Given the description of an element on the screen output the (x, y) to click on. 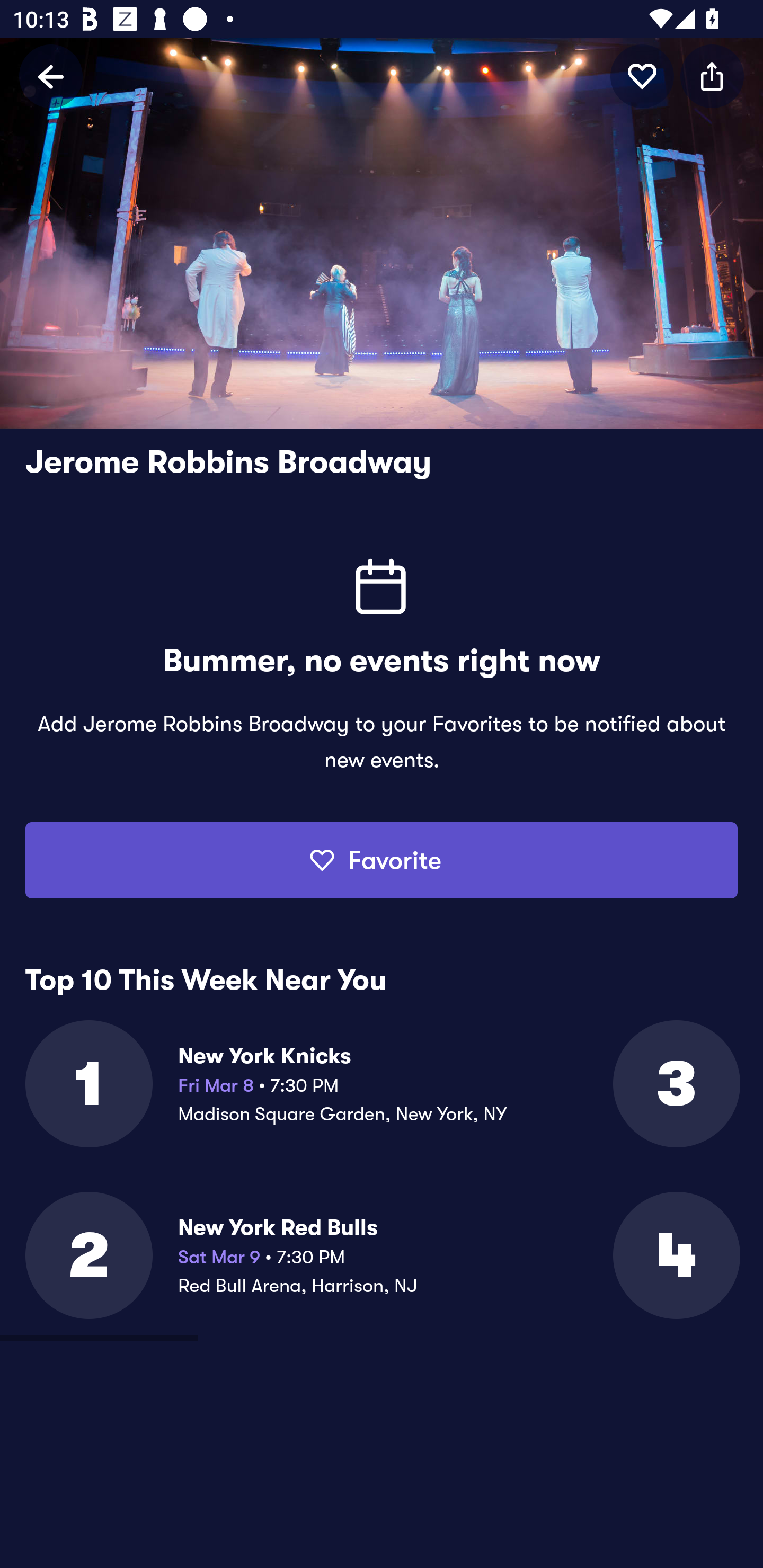
Back (50, 75)
icon button (641, 75)
icon button (711, 75)
Favorite (381, 859)
3 (675, 1083)
4 (675, 1254)
